Given the description of an element on the screen output the (x, y) to click on. 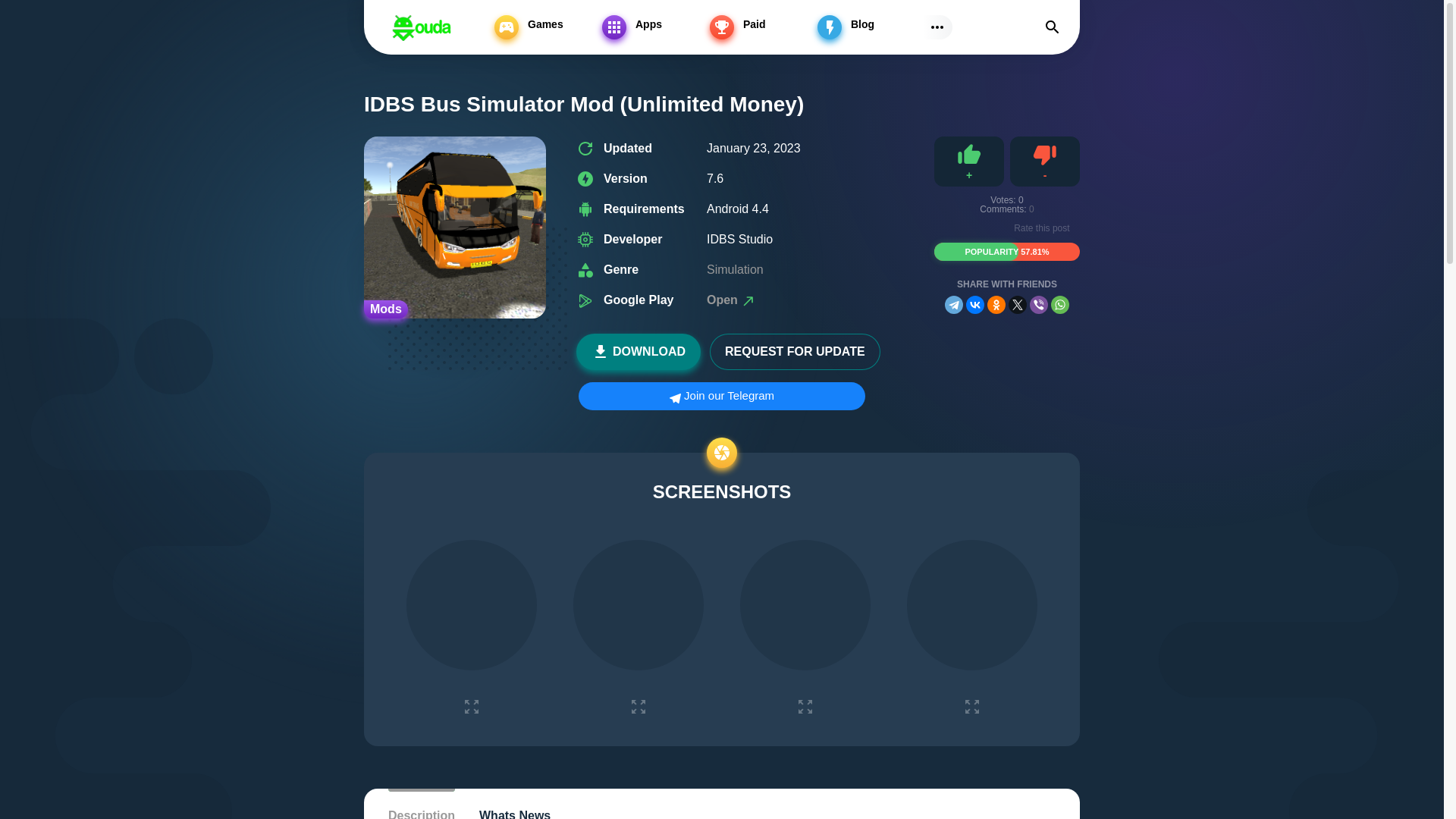
Apps (652, 27)
join our telegram (721, 396)
Simulation (475, 36)
Xouda (421, 27)
Dislike (1045, 161)
Home (394, 36)
Blog (867, 27)
Telegram (953, 304)
Paid (759, 27)
Application popularity (1007, 251)
idbs-bus-simulator.png (1045, 161)
Simulation (455, 227)
Share with friends (734, 269)
Find (1007, 288)
